Given the description of an element on the screen output the (x, y) to click on. 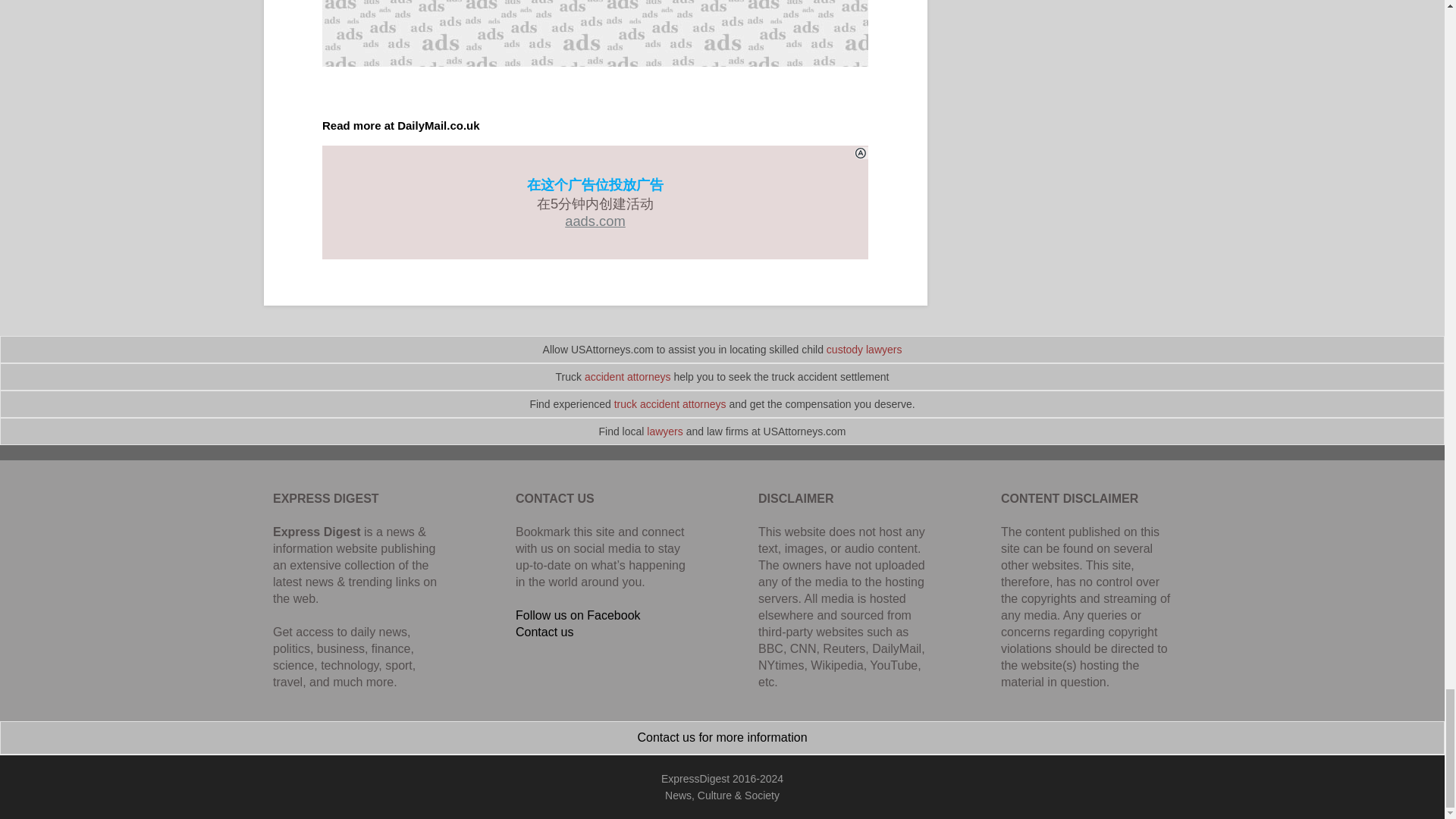
custody lawyers (864, 349)
lawyers (664, 431)
accident attorneys (628, 377)
truck accident attorneys (670, 404)
Read more at DailyMail.co.uk (400, 124)
